Given the description of an element on the screen output the (x, y) to click on. 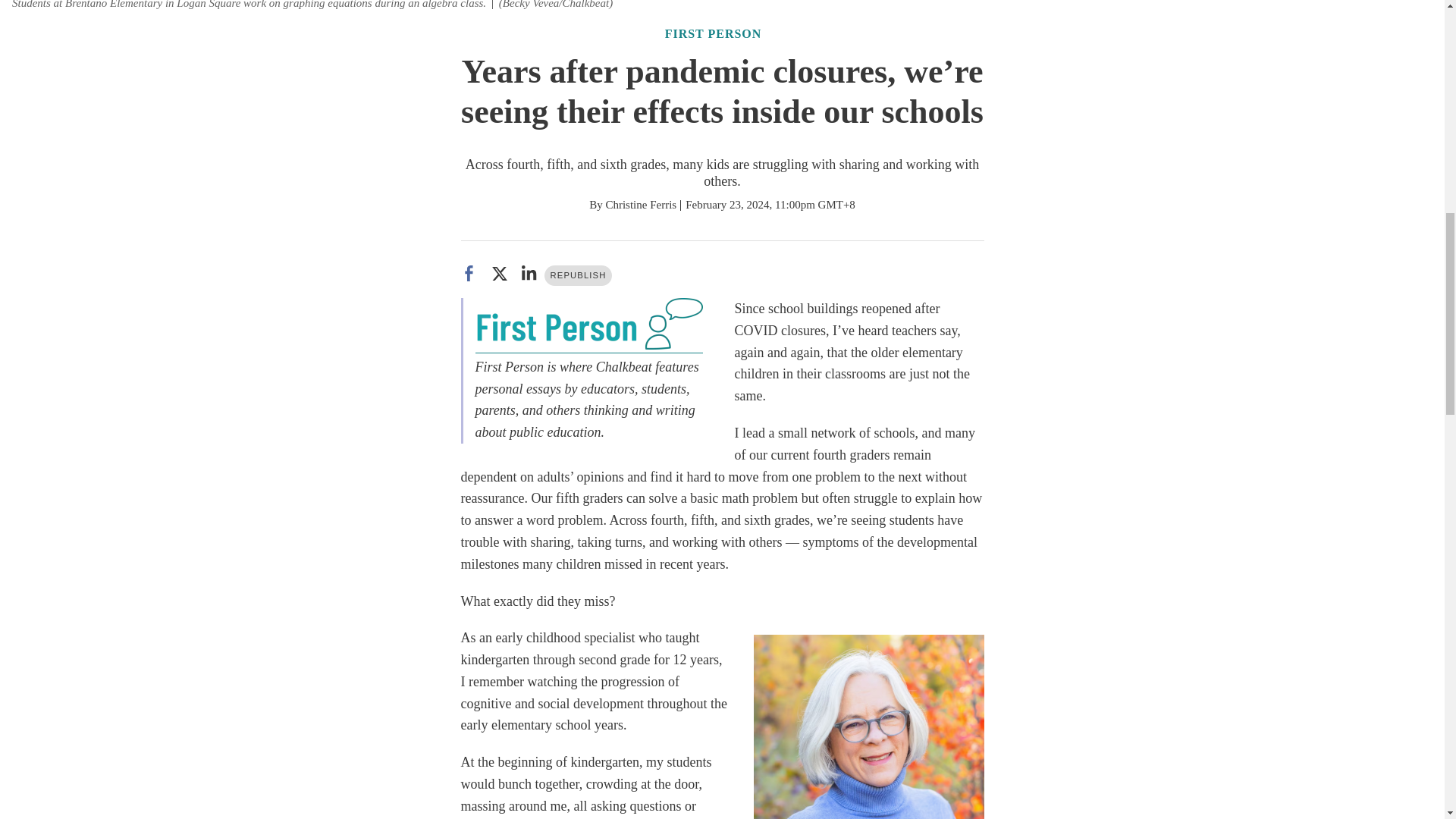
REPUBLISH (578, 275)
FIRST PERSON (713, 33)
